Given the description of an element on the screen output the (x, y) to click on. 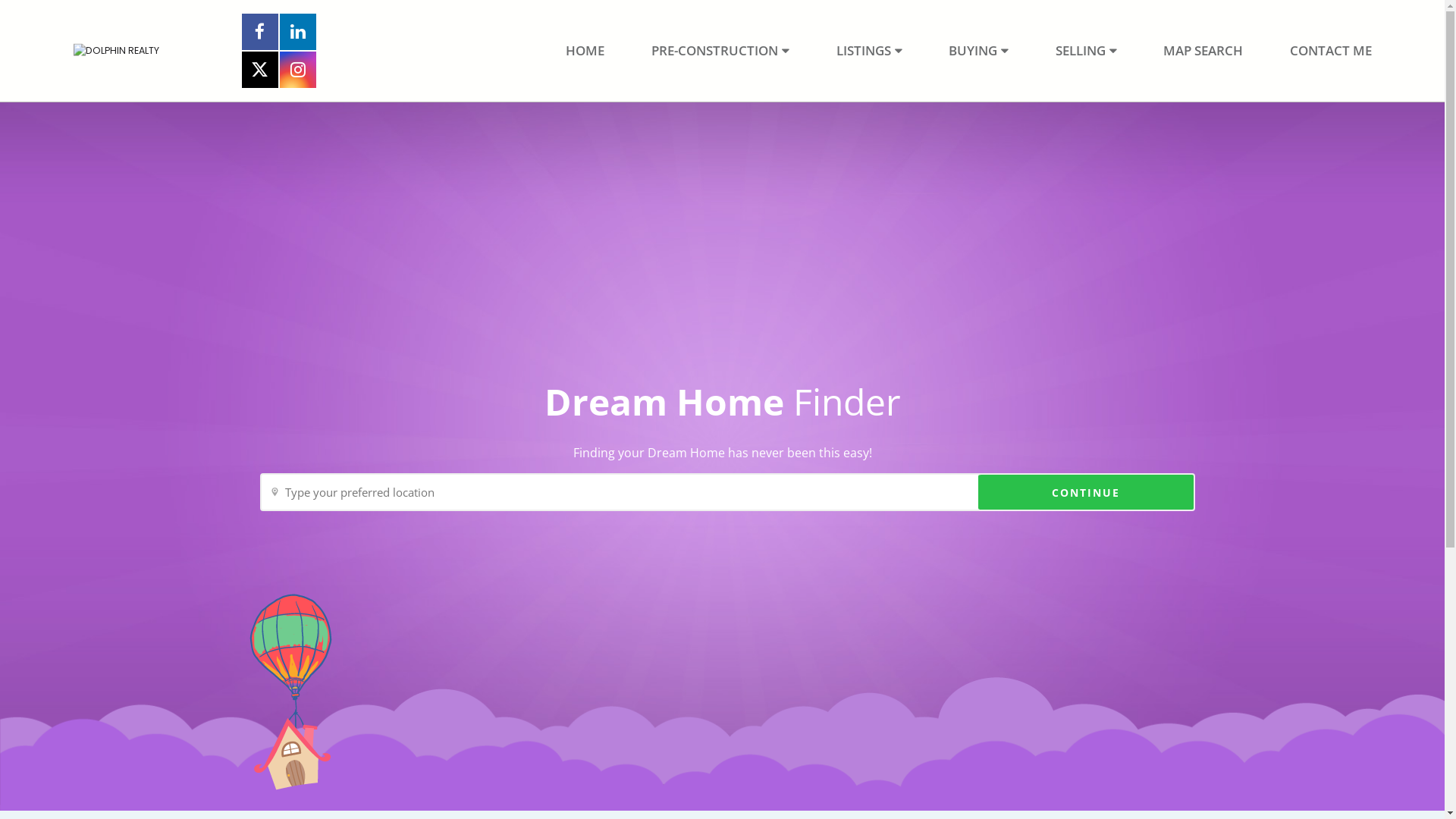
LISTINGS Element type: text (869, 50)
CONTACT ME Element type: text (1330, 50)
MAP SEARCH Element type: text (1202, 50)
SELLING Element type: text (1086, 50)
HOME Element type: text (584, 50)
PRE-CONSTRUCTION Element type: text (720, 50)
BUYING Element type: text (978, 50)
